Given the description of an element on the screen output the (x, y) to click on. 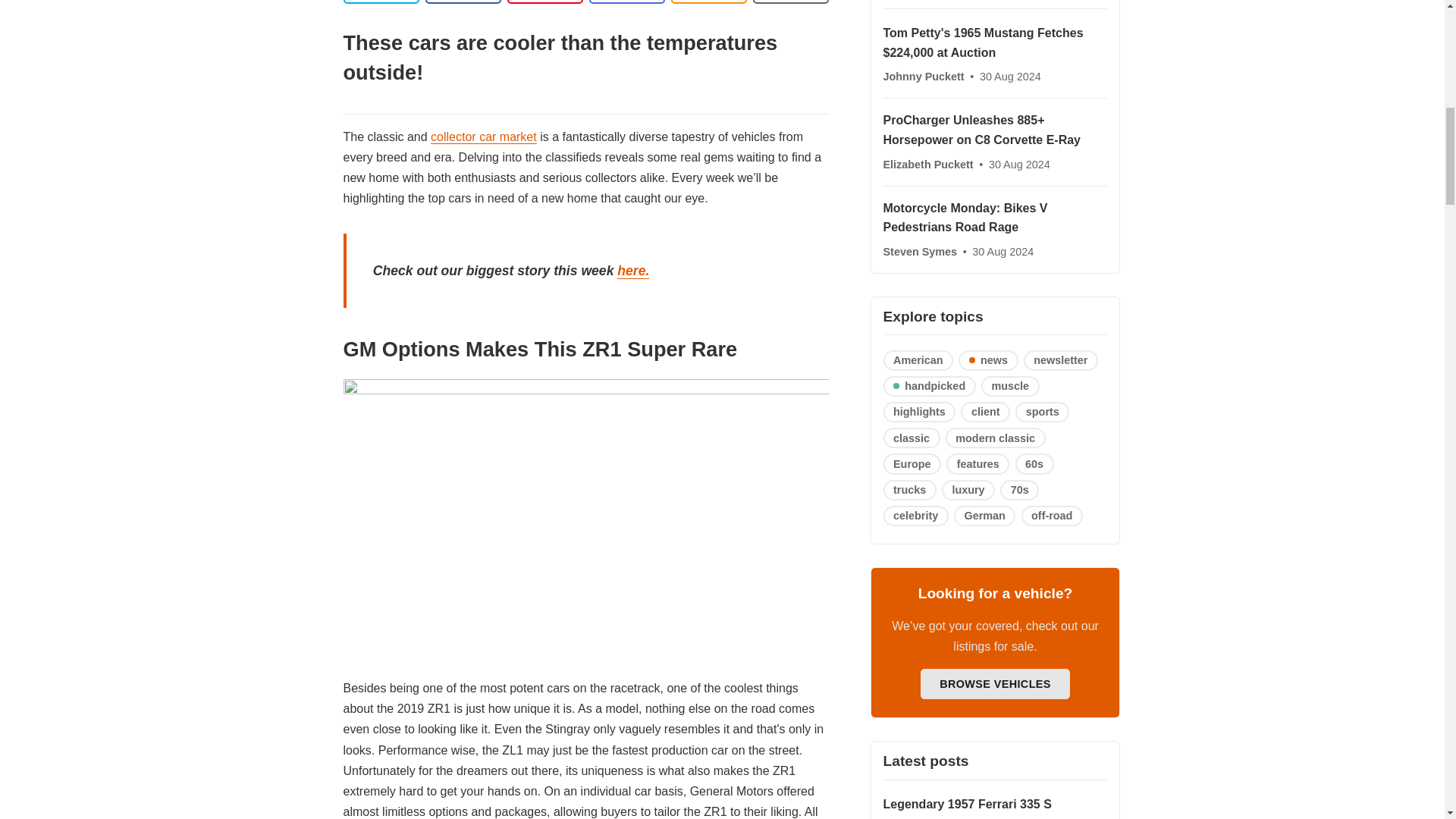
Share on Linkedin (544, 1)
Johnny Puckett (924, 76)
Elizabeth Puckett (928, 164)
Share on Twitter (380, 1)
Steven Symes (920, 251)
Share on Facebook (462, 1)
Share by email (625, 1)
Bookmark (790, 1)
Copy to clipboard (707, 1)
collector car market (483, 137)
